Given the description of an element on the screen output the (x, y) to click on. 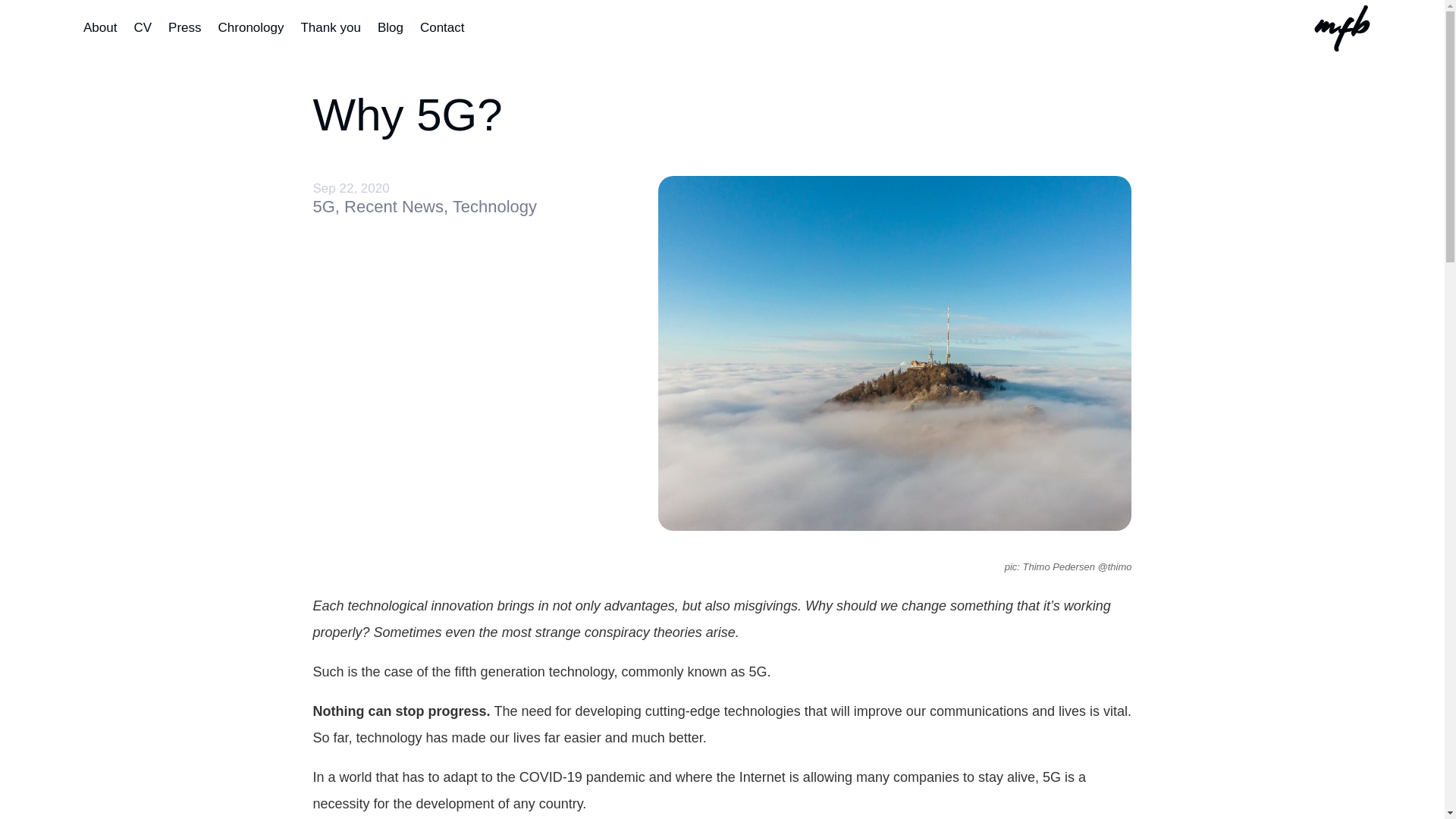
Technology (494, 206)
5G (323, 206)
Recent News (393, 206)
Contact (442, 39)
About (99, 39)
Press (184, 39)
Chronology (250, 39)
Thank you (329, 39)
